Given the description of an element on the screen output the (x, y) to click on. 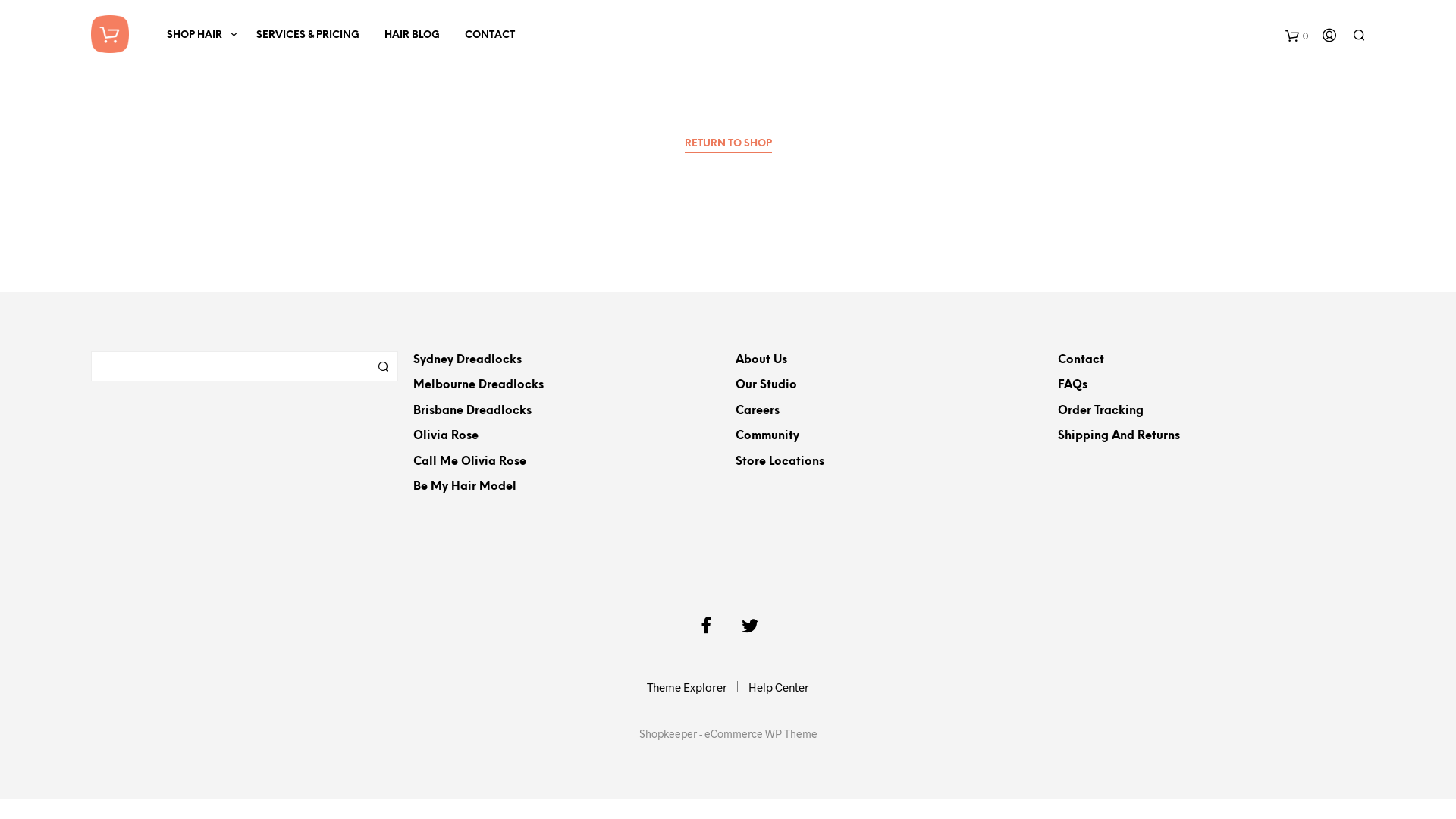
Community Element type: text (767, 435)
HAIR BLOG Element type: text (412, 34)
Sydney Dreadlocks Element type: text (467, 359)
Order Tracking Element type: text (1100, 410)
Store Locations Element type: text (779, 461)
Our Studio Element type: text (766, 385)
Help Center Element type: text (778, 686)
CONTACT Element type: text (489, 34)
Shipping And Returns Element type: text (1118, 435)
Melbourne Dreadlocks Element type: text (478, 385)
0 Element type: text (1296, 34)
Brisbane Dreadlocks Element type: text (472, 410)
RETURN TO SHOP Element type: text (727, 145)
Best Melbourne hair extensions Element type: hover (109, 34)
SHOP HAIR Element type: text (194, 34)
SEARCH Element type: text (382, 365)
Olivia Rose Element type: text (445, 435)
About Us Element type: text (761, 359)
Call Me Olivia Rose Element type: text (469, 461)
Be My Hair Model Element type: text (464, 486)
Theme Explorer Element type: text (686, 686)
FAQs Element type: text (1072, 385)
Careers Element type: text (757, 410)
SERVICES & PRICING Element type: text (307, 34)
Contact Element type: text (1080, 359)
